Given the description of an element on the screen output the (x, y) to click on. 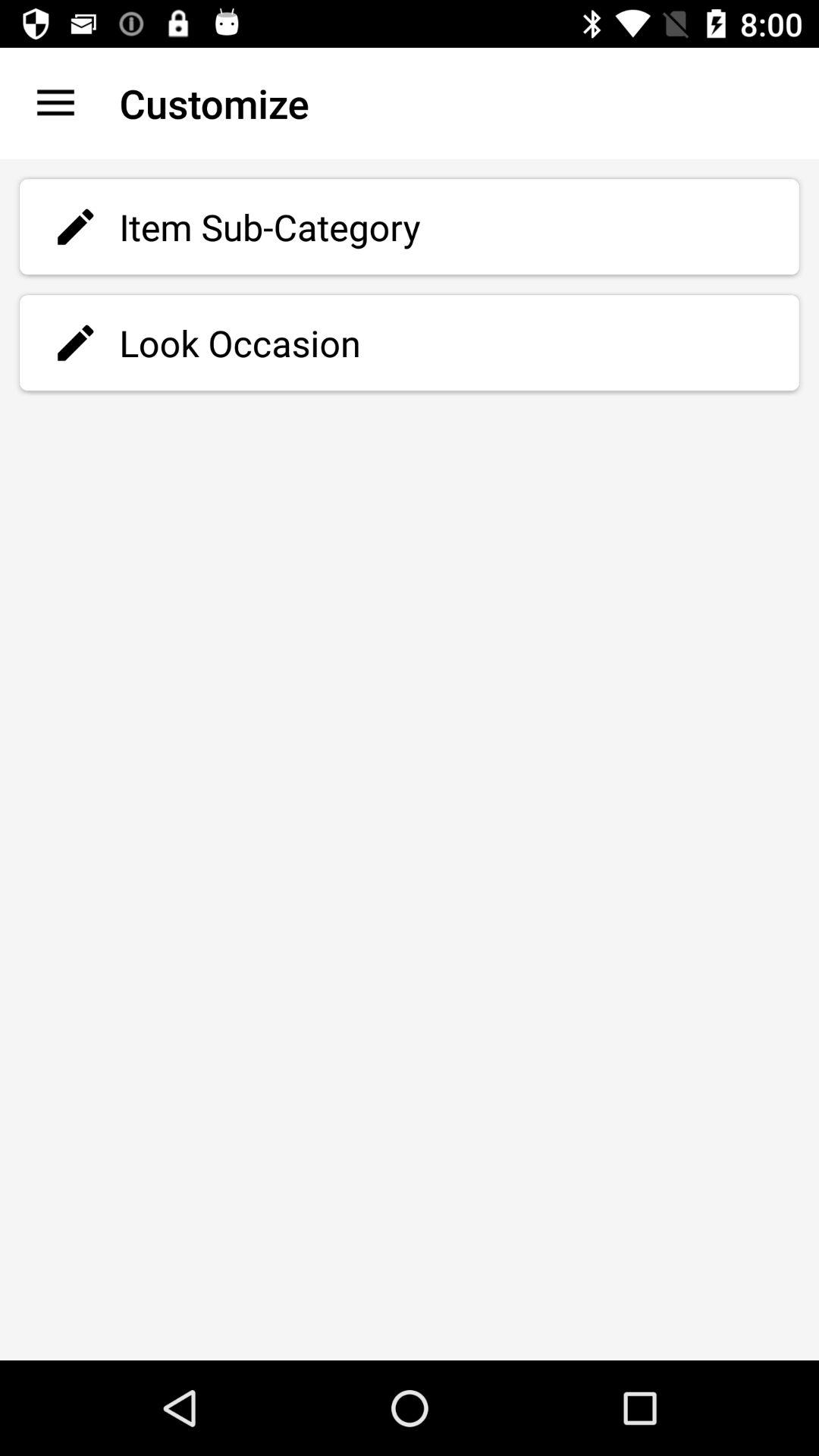
turn off item to the left of the customize icon (55, 103)
